Given the description of an element on the screen output the (x, y) to click on. 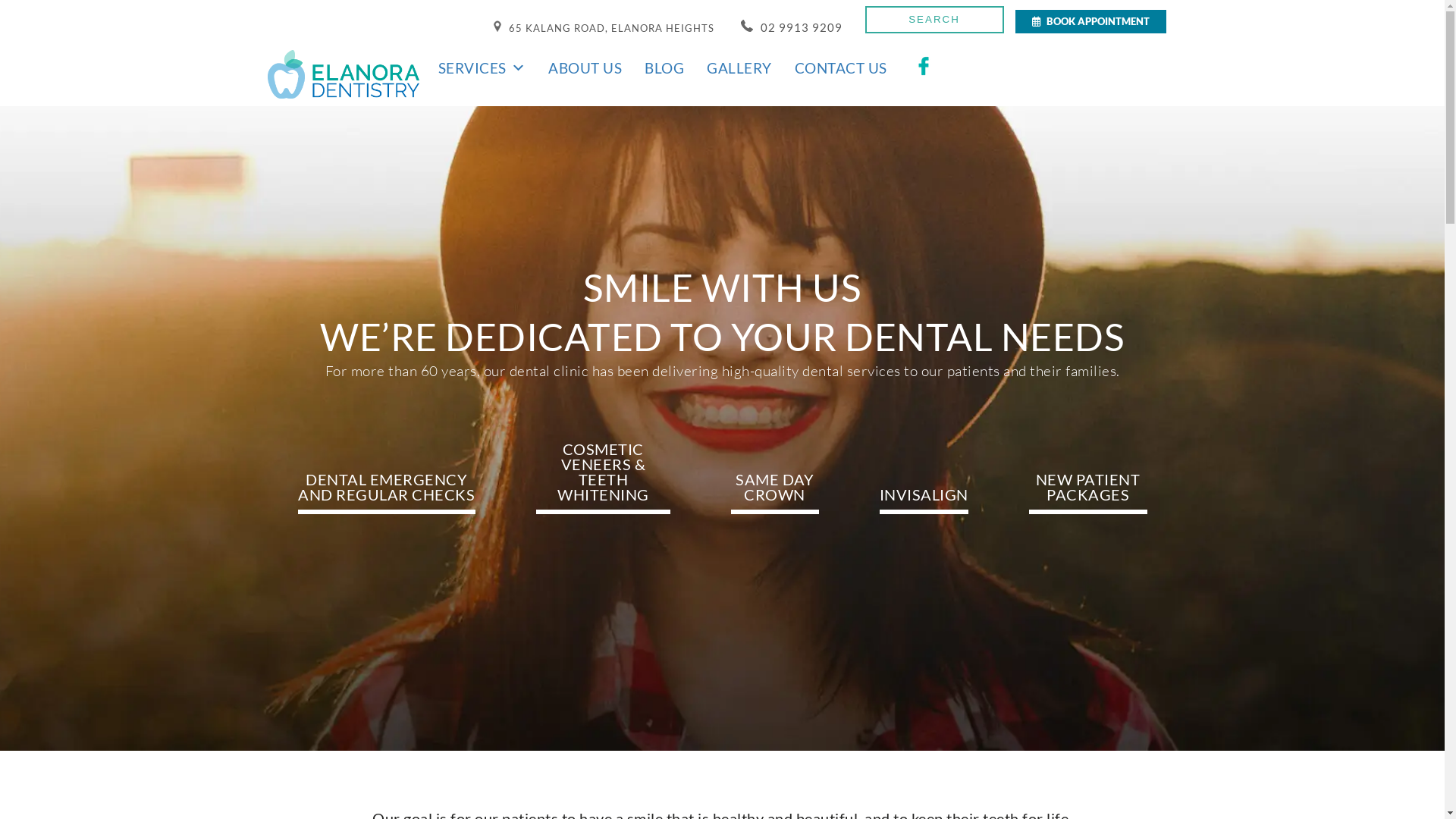
GALLERY Element type: text (739, 67)
BOOK APPOINTMENT Element type: text (1089, 21)
02 9913 9209 Element type: text (790, 27)
COSMETIC VENEERS & TEETH WHITENING Element type: text (602, 477)
CONTACT US Element type: text (840, 67)
65 KALANG ROAD, ELANORA HEIGHTS Element type: text (602, 27)
SERVICES Element type: text (481, 67)
ABOUT US Element type: text (584, 67)
NEW PATIENT PACKAGES Element type: text (1088, 492)
INVISALIGN Element type: text (923, 500)
BLOG Element type: text (664, 67)
DENTAL EMERGENCY AND REGULAR CHECKS Element type: text (386, 492)
SAME DAY CROWN Element type: text (775, 492)
